Given the description of an element on the screen output the (x, y) to click on. 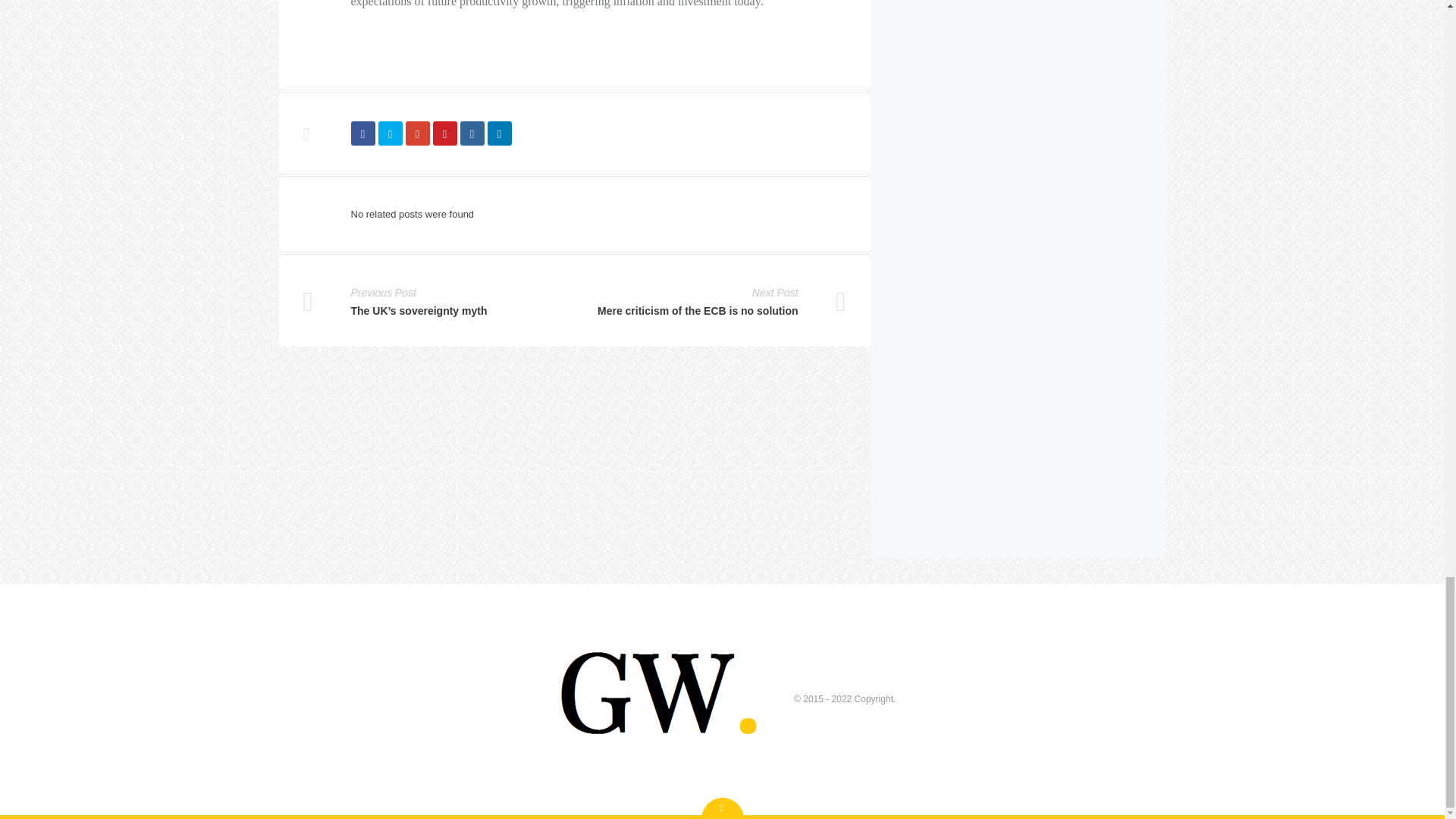
Share on Linkedin (498, 133)
Share on Pinterest (444, 133)
Mere criticism of the ECB is no solution (696, 311)
Share on Facebook (362, 133)
Share on Reddit (471, 133)
Share on Twitter (389, 133)
Share on Google Plus (416, 133)
